Given the description of an element on the screen output the (x, y) to click on. 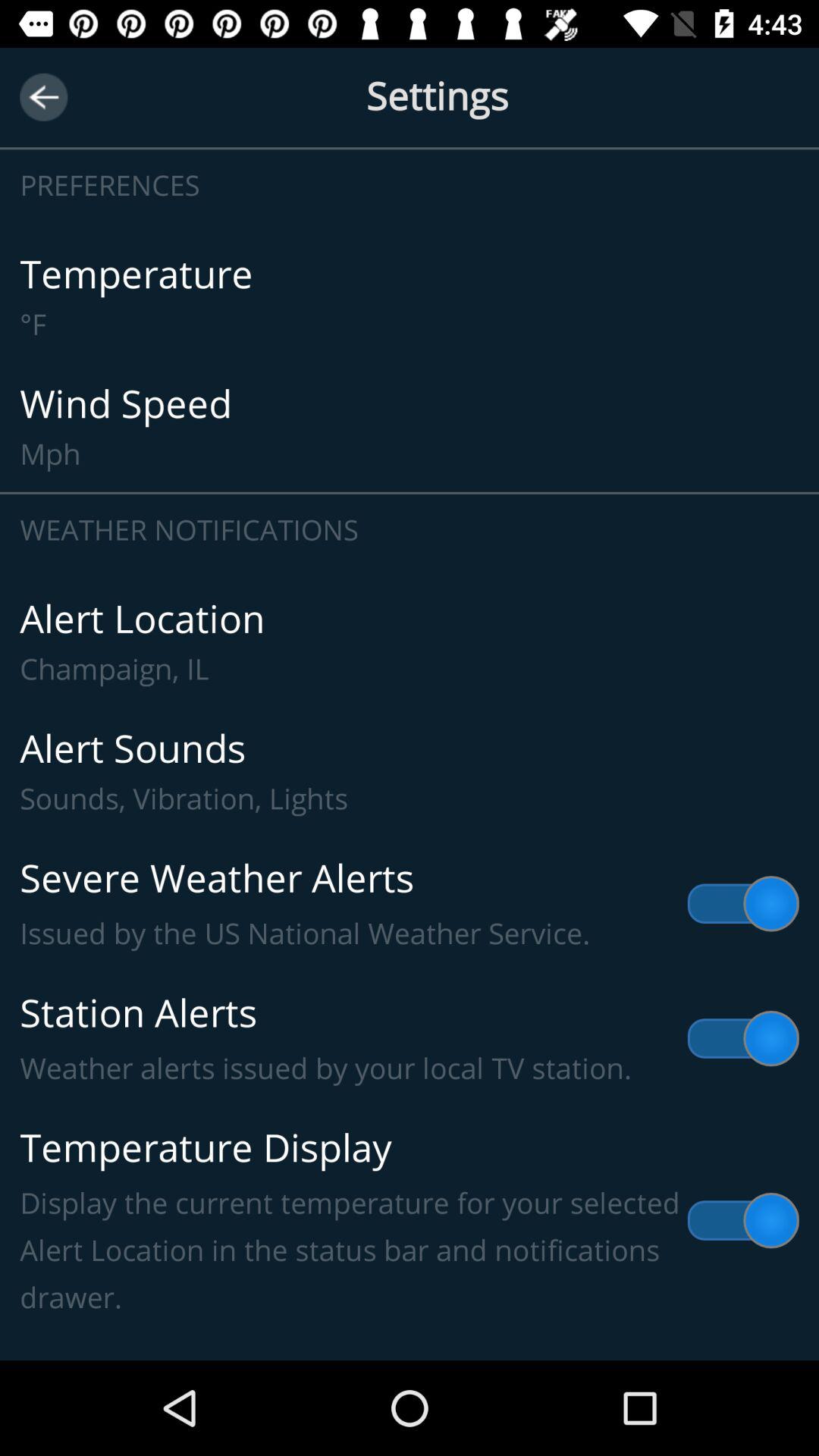
go to bake button (43, 97)
